Given the description of an element on the screen output the (x, y) to click on. 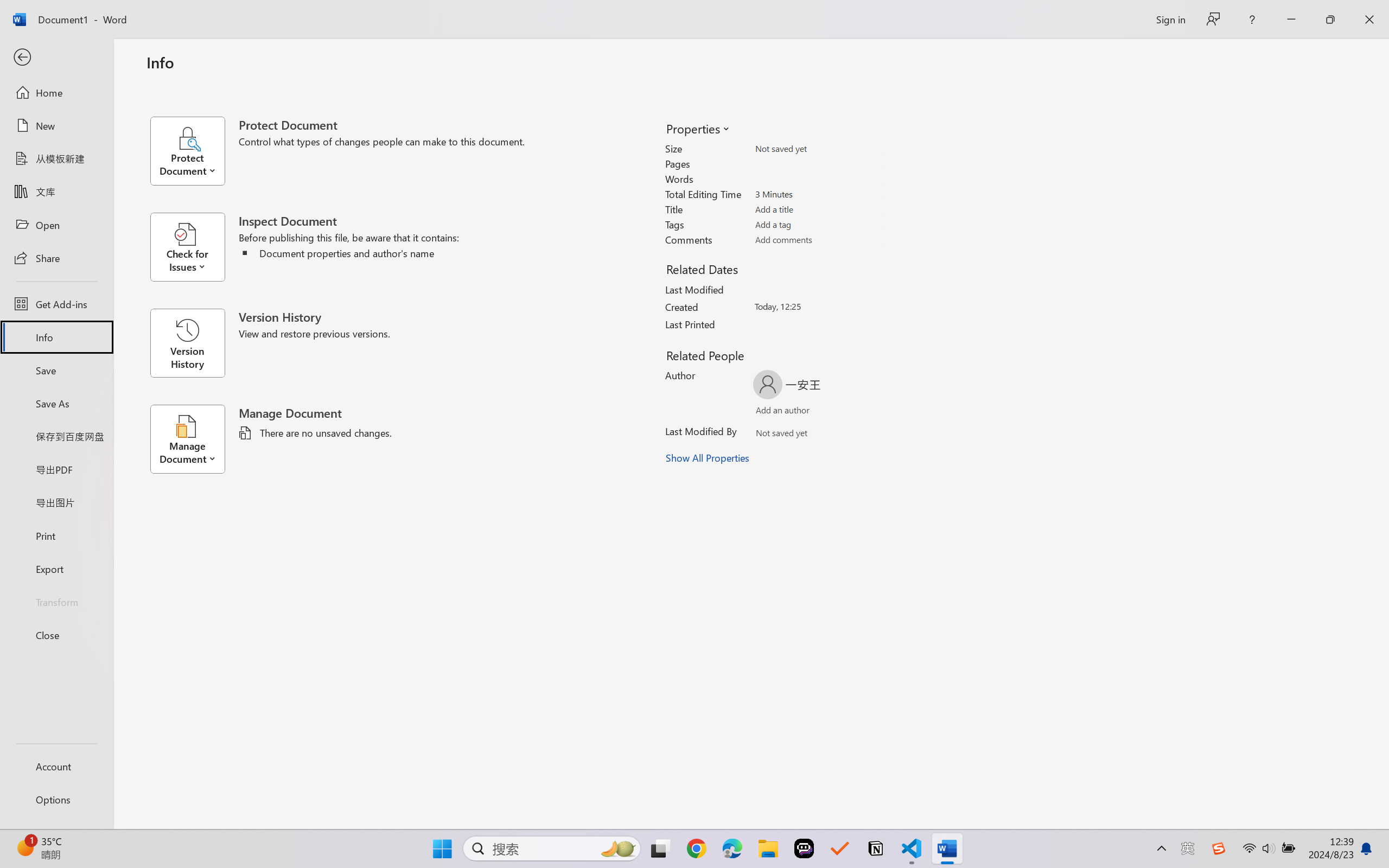
Protect Document (194, 150)
Properties (696, 128)
Tags (818, 223)
Print (56, 535)
Version History (187, 343)
Manage Document (194, 438)
Back (56, 57)
Pages (818, 163)
Check for Issues (194, 246)
